Given the description of an element on the screen output the (x, y) to click on. 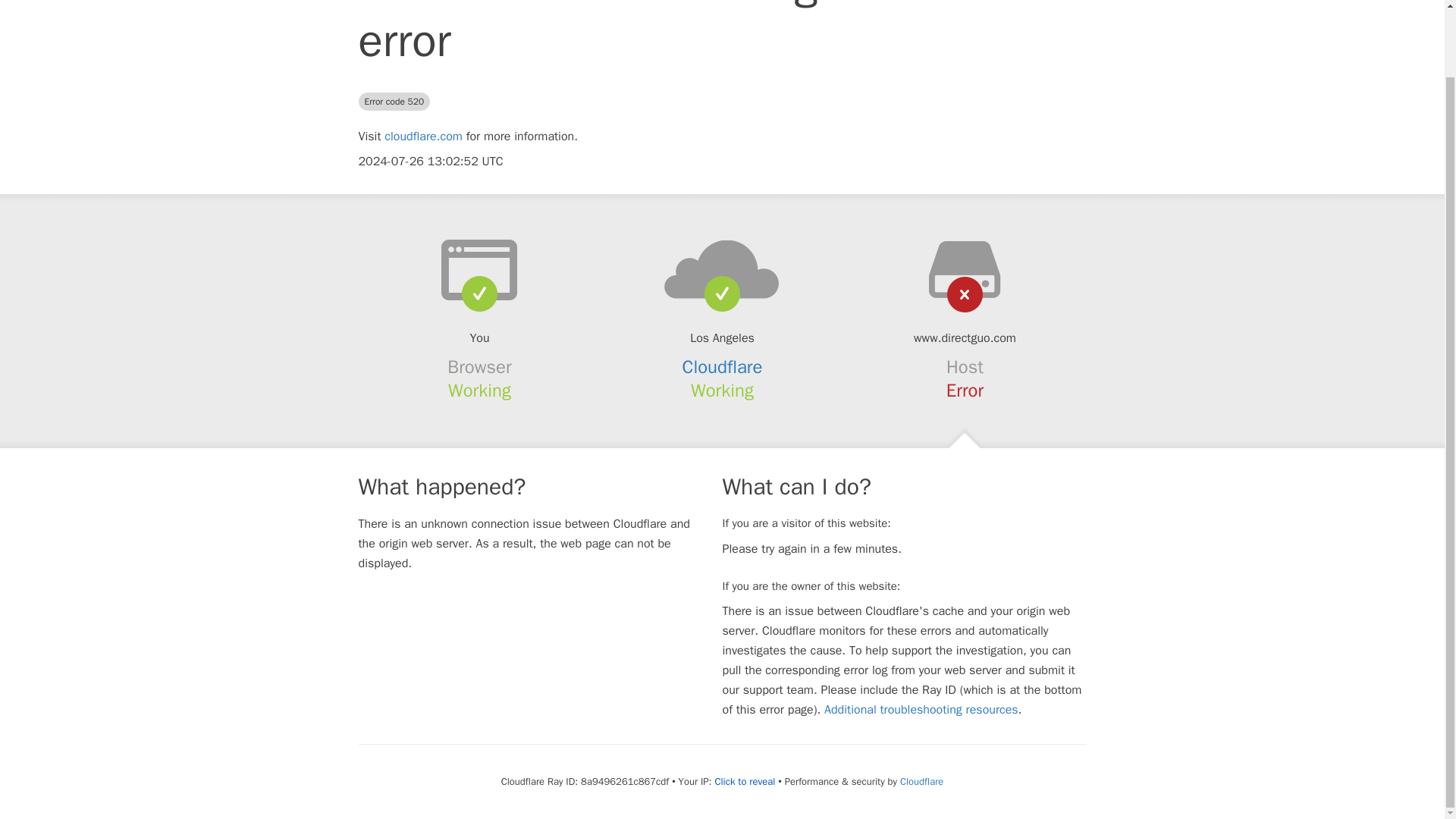
Click to reveal (744, 781)
Cloudflare (921, 780)
Cloudflare (722, 366)
Additional troubleshooting resources (920, 709)
cloudflare.com (423, 136)
